Given the description of an element on the screen output the (x, y) to click on. 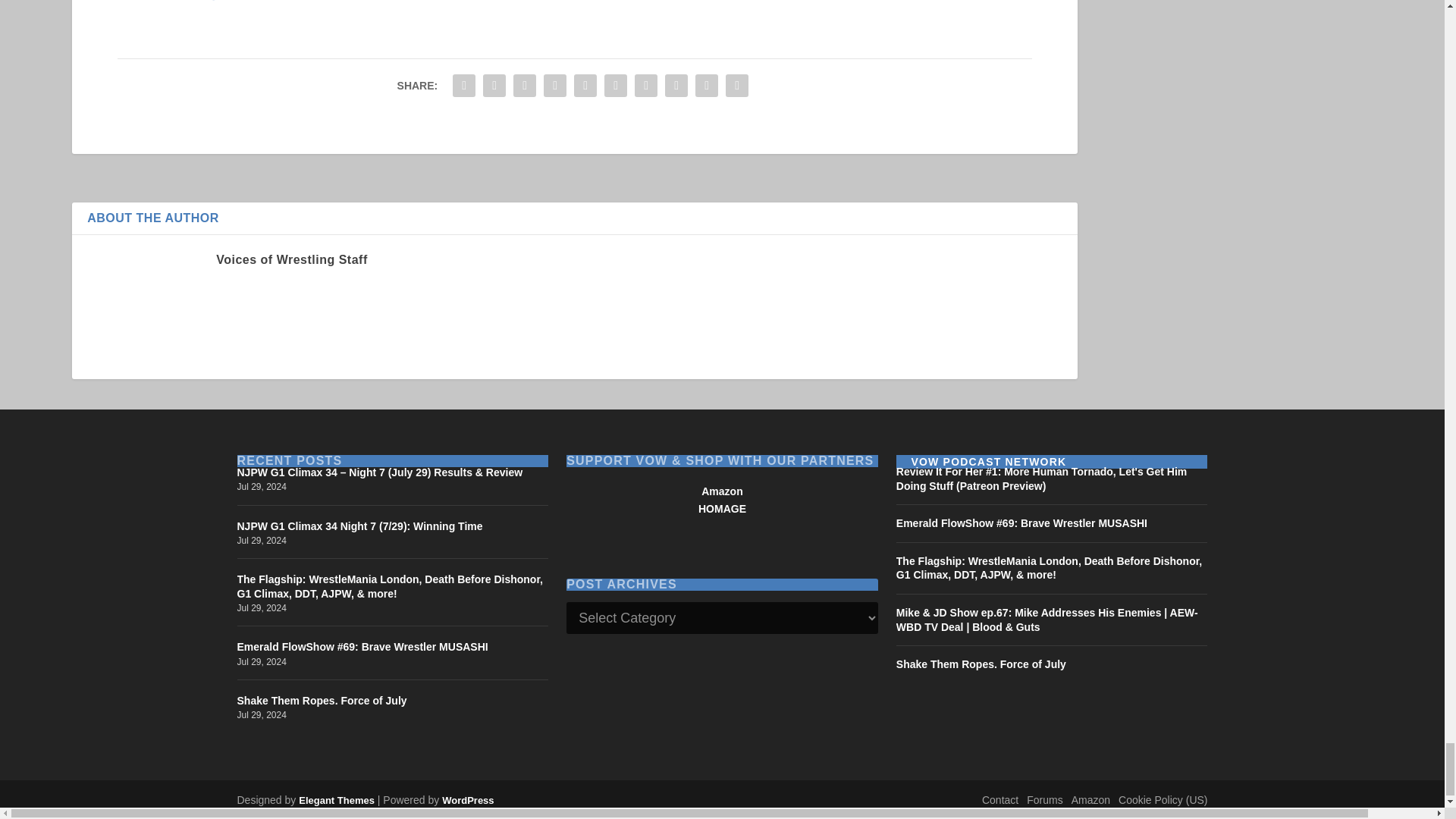
View all posts by Voices of Wrestling Staff (291, 259)
